Given the description of an element on the screen output the (x, y) to click on. 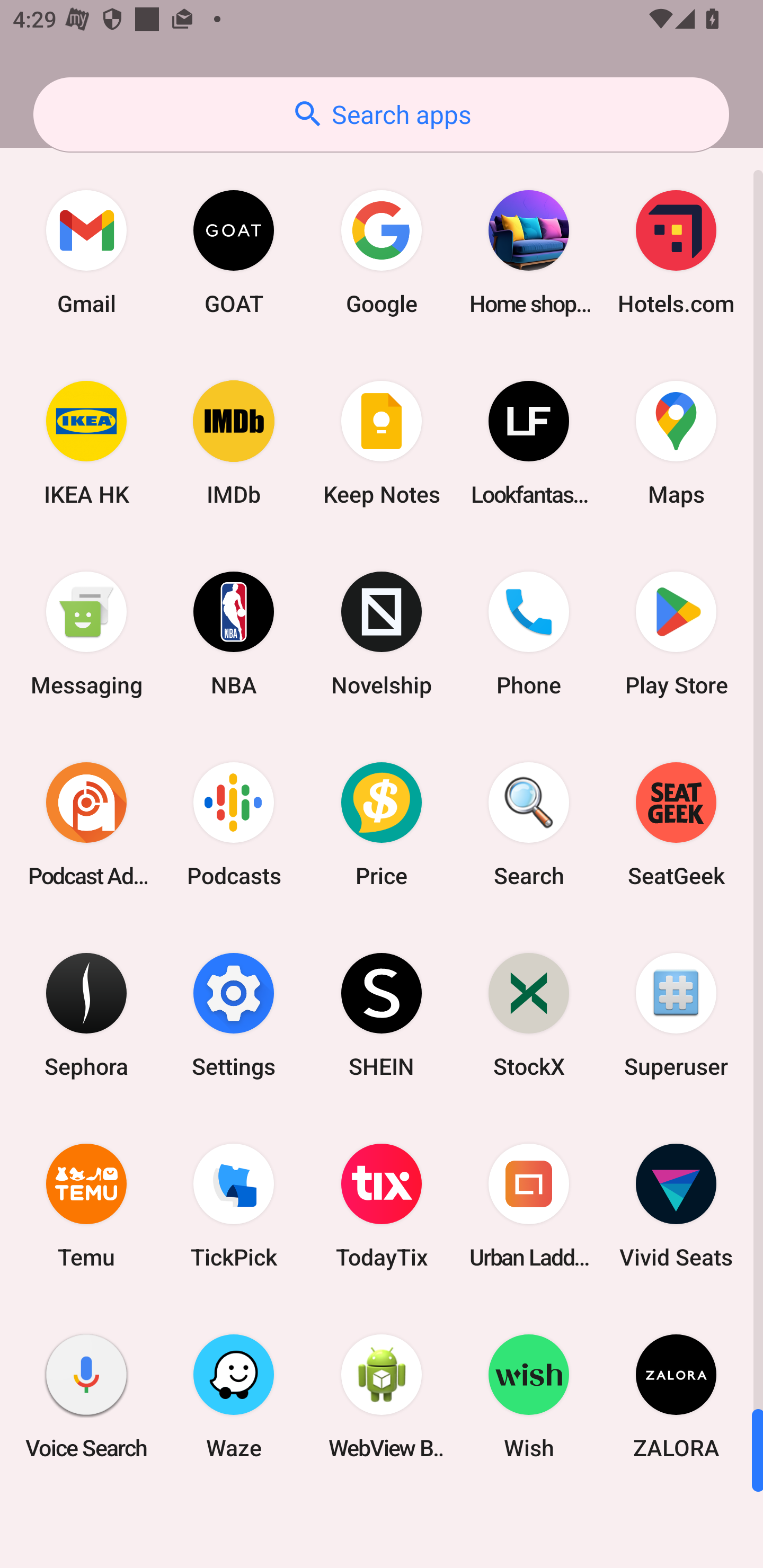
  Search apps (381, 114)
Gmail (86, 252)
GOAT (233, 252)
Google (381, 252)
Home shopping (528, 252)
Hotels.com (676, 252)
IKEA HK (86, 442)
IMDb (233, 442)
Keep Notes (381, 442)
Lookfantastic (528, 442)
Maps (676, 442)
Messaging (86, 633)
NBA (233, 633)
Novelship (381, 633)
Phone (528, 633)
Play Store (676, 633)
Podcast Addict (86, 823)
Podcasts (233, 823)
Price (381, 823)
Search (528, 823)
SeatGeek (676, 823)
Sephora (86, 1014)
Settings (233, 1014)
SHEIN (381, 1014)
StockX (528, 1014)
Superuser (676, 1014)
Temu (86, 1205)
TickPick (233, 1205)
TodayTix (381, 1205)
Urban Ladder (528, 1205)
Vivid Seats (676, 1205)
Voice Search (86, 1396)
Waze (233, 1396)
WebView Browser Tester (381, 1396)
Wish (528, 1396)
ZALORA (676, 1396)
